Given the description of an element on the screen output the (x, y) to click on. 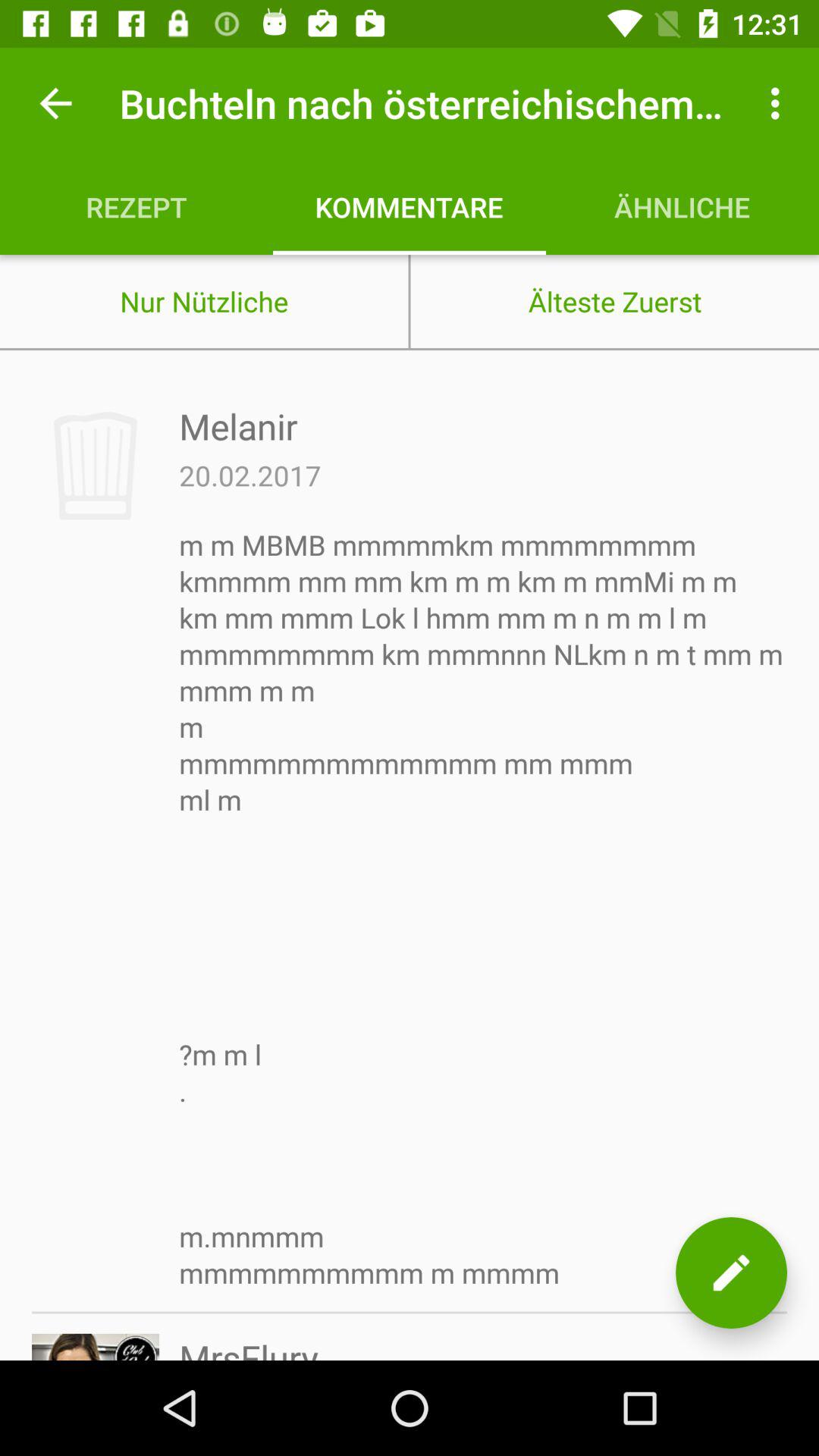
click the icon below the rezept (204, 301)
